Given the description of an element on the screen output the (x, y) to click on. 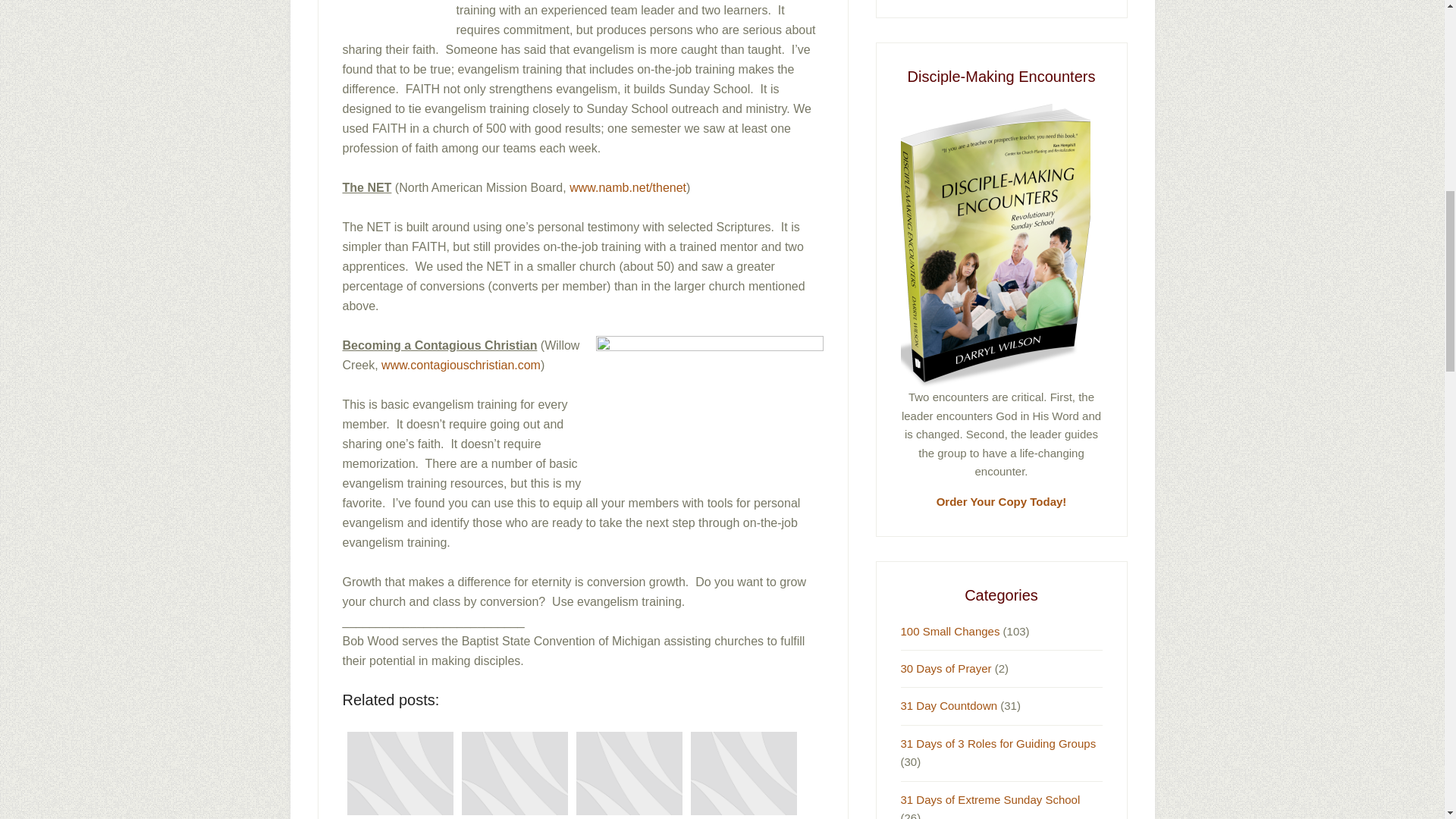
BACC (709, 404)
When Does a Sunday School Class Become Missional? (742, 772)
faith (399, 17)
www.contagiouschristian.com (460, 364)
Prayer and the Transformational Group (400, 772)
The Missional Sunday School: Living Christ Outside the Norm (629, 772)
Order Your Copy Today! (1001, 501)
